Given the description of an element on the screen output the (x, y) to click on. 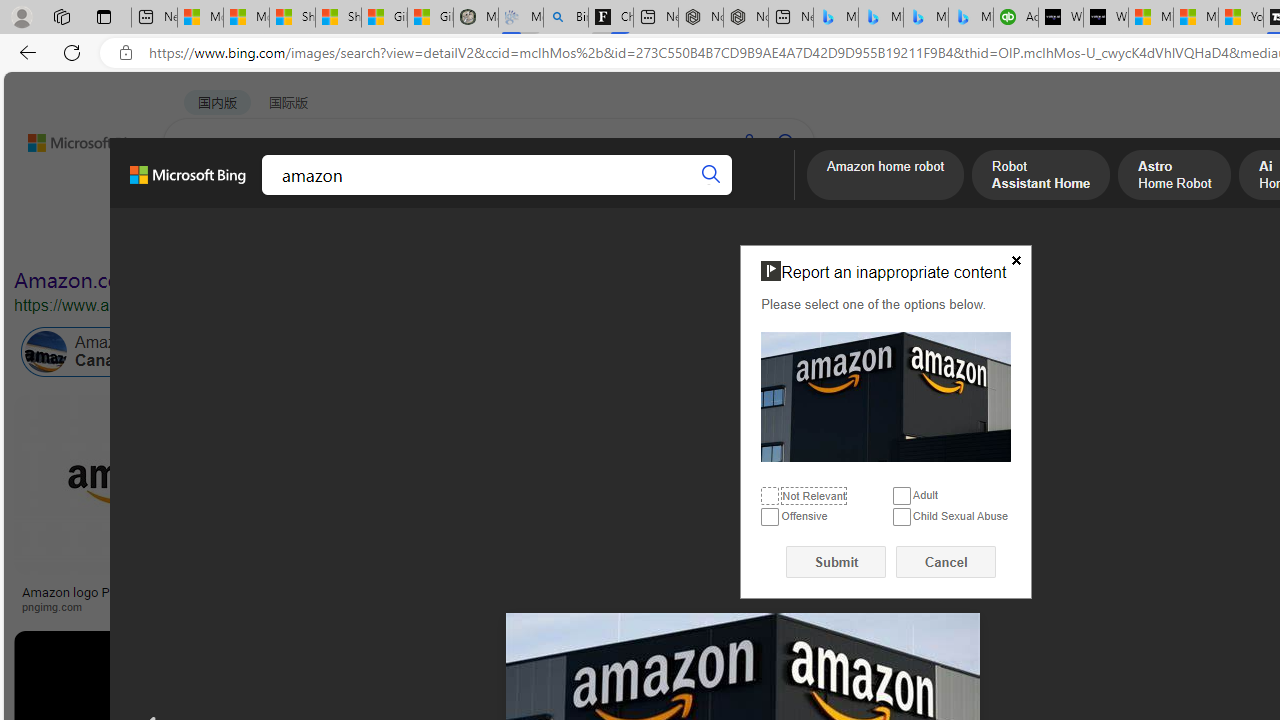
aiophotoz.com (941, 605)
WEB (201, 195)
Offensive (770, 517)
Listen: What's next for Amazon?usatoday.comSave (713, 508)
Class: b_pri_nav_svg (336, 196)
Adult (901, 496)
Bing Real Estate - Home sales and rental listings (565, 17)
Type (372, 237)
Kindle Paperwhite Case (1183, 524)
aiophotoz.com (983, 606)
MAPS (698, 195)
